Given the description of an element on the screen output the (x, y) to click on. 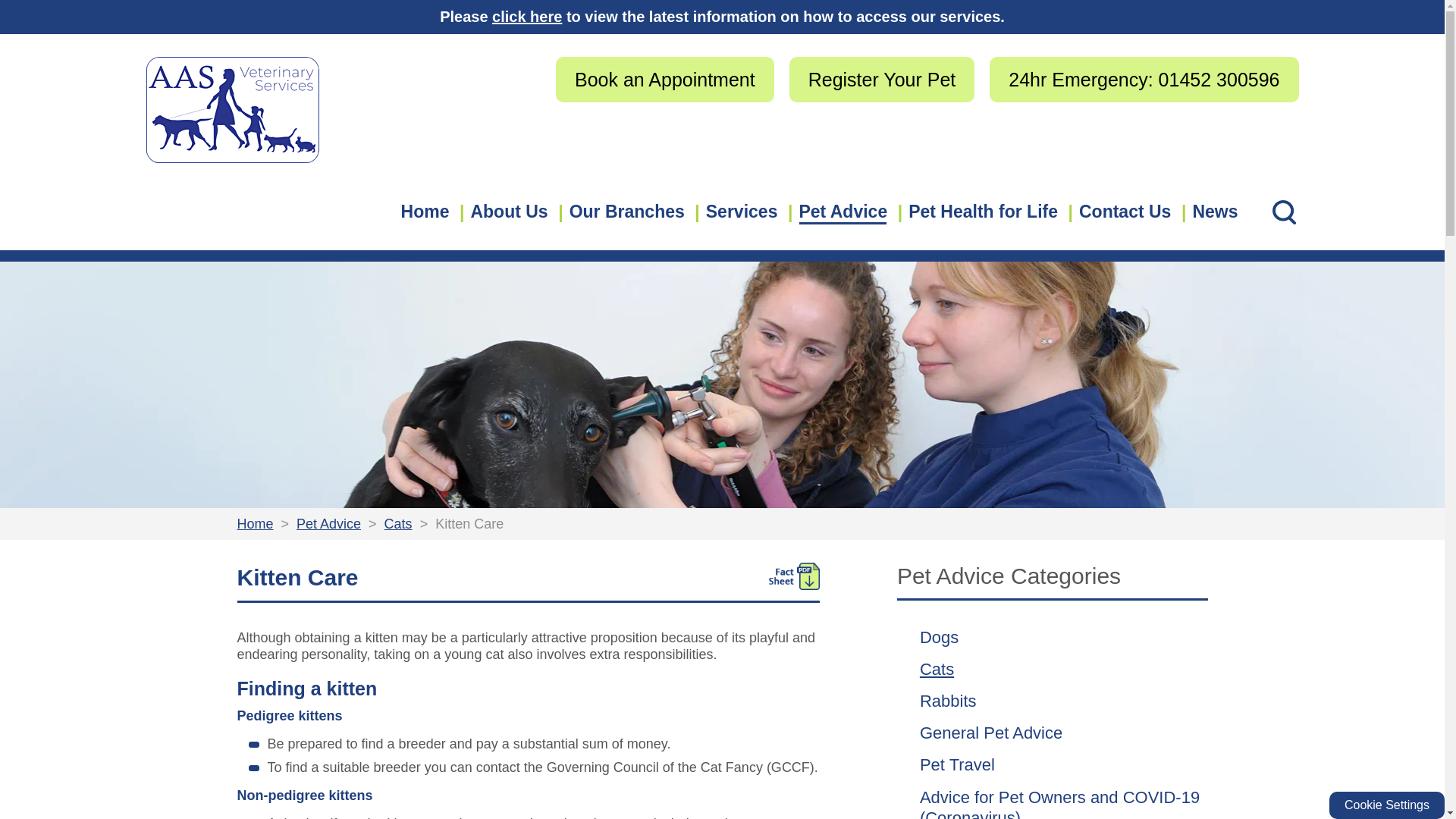
24hr Emergency: 01452 300596 (1144, 79)
Services (742, 211)
About Us (508, 211)
Home (425, 211)
Pet Advice (842, 211)
Register Your Pet (882, 79)
Book an Appointment (665, 79)
Download Fact Sheet (793, 575)
Our Branches (627, 211)
Search (1284, 212)
